Given the description of an element on the screen output the (x, y) to click on. 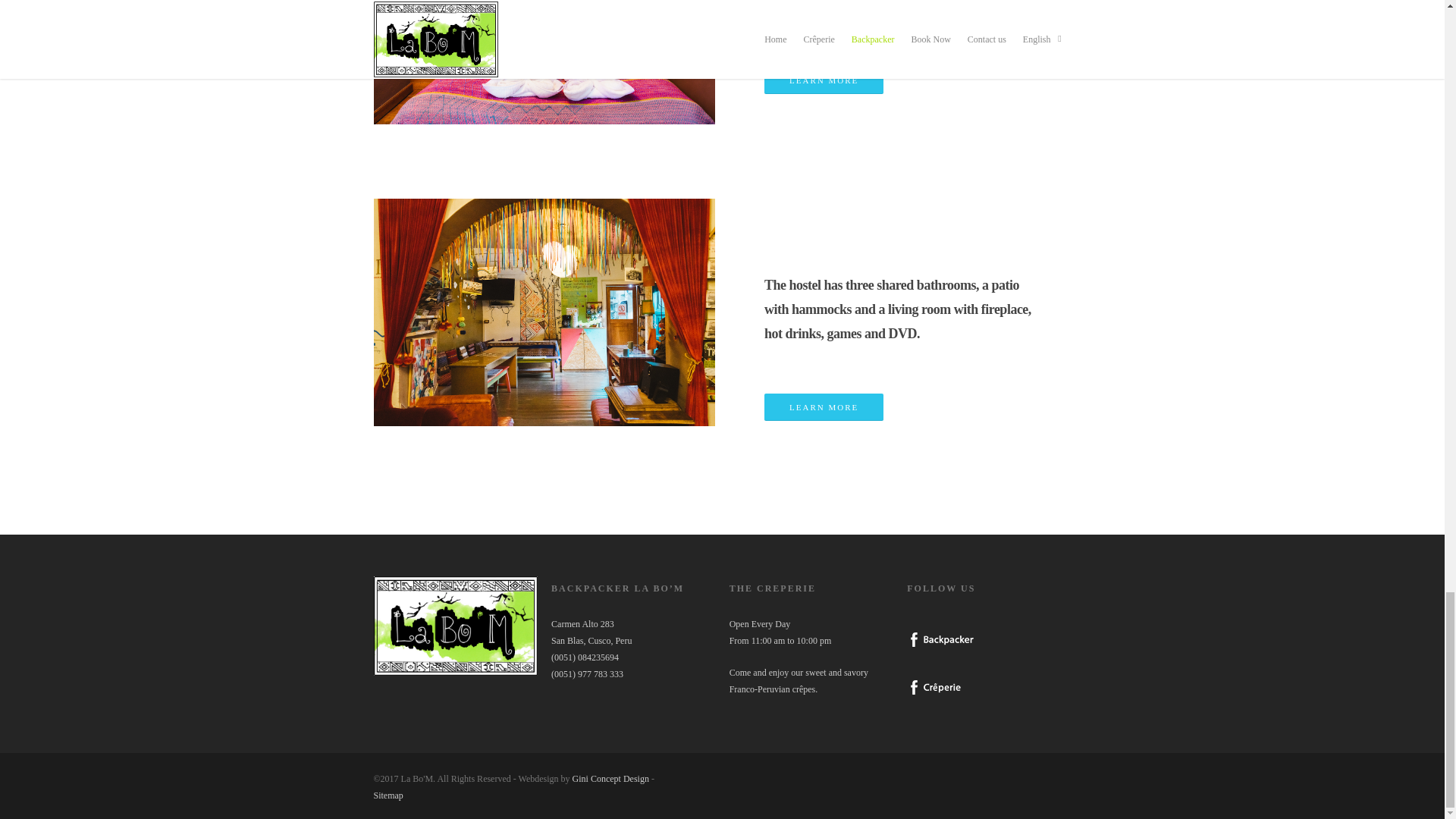
Sitemap (387, 795)
LEARN MORE (823, 406)
LEARN MORE (823, 80)
Gini Concept Design (610, 778)
